Given the description of an element on the screen output the (x, y) to click on. 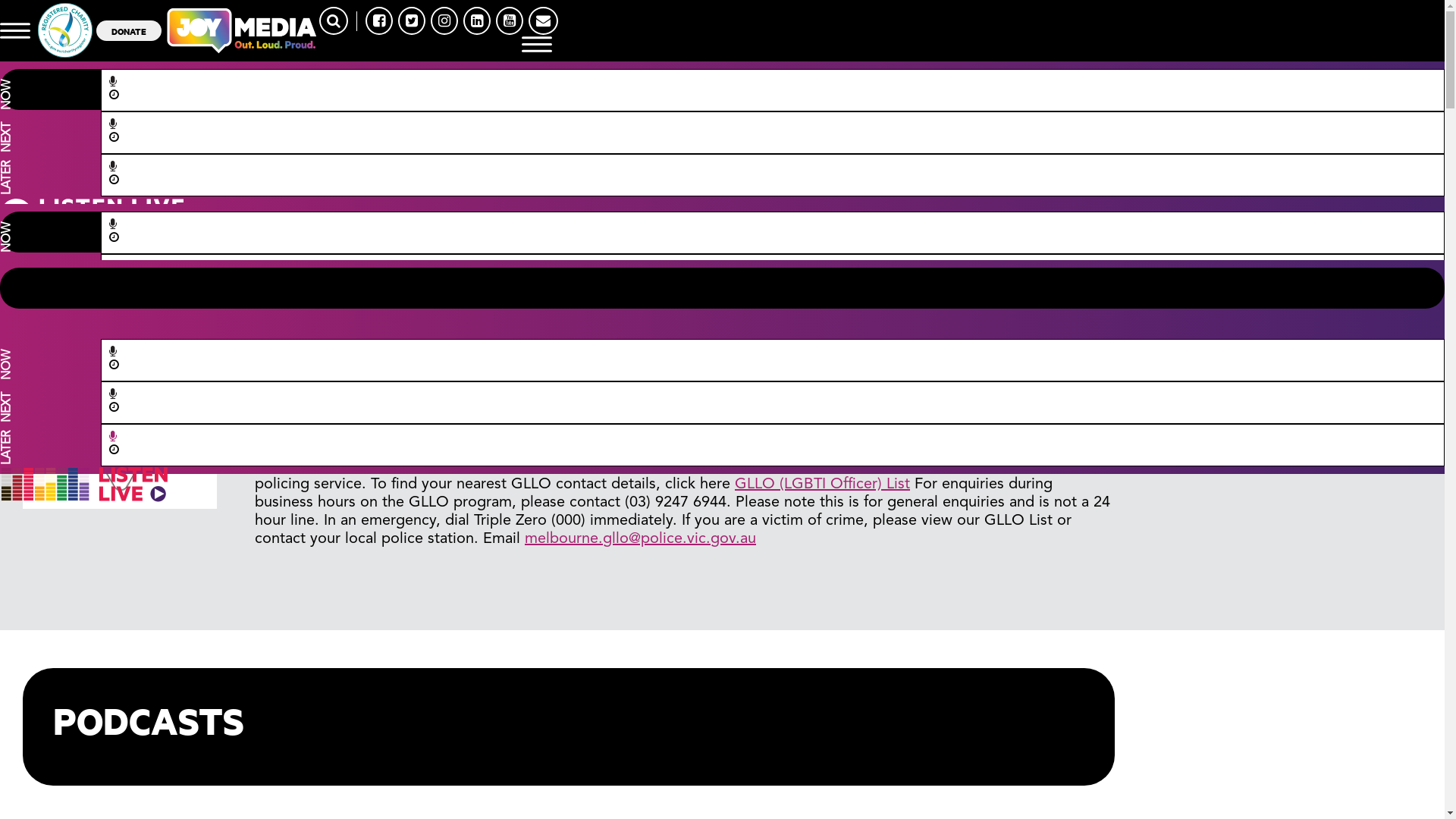
Add to iTunes Element type: text (487, 323)
melbourne.gllo@police.vic.gov.au Element type: text (640, 538)
GLLO (LGBTI Officer) List Element type: text (822, 484)
Subscribe to the podcast Element type: text (340, 323)
TheGLLOshow@joy.org.au Element type: text (345, 341)
DONATE Element type: text (128, 30)
DONATE Element type: text (128, 30)
